Given the description of an element on the screen output the (x, y) to click on. 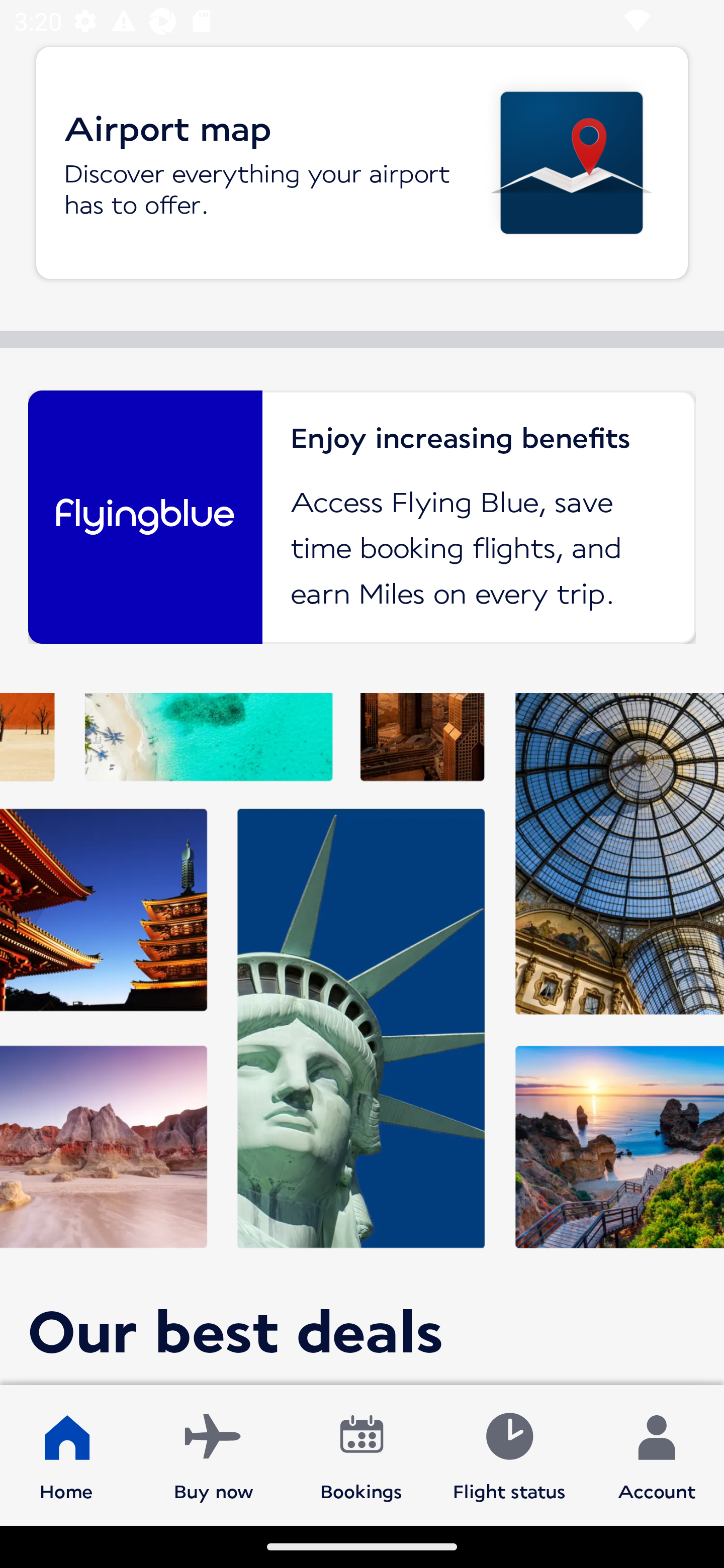
Our best deals (362, 1038)
Buy now (213, 1454)
Bookings (361, 1454)
Flight status (509, 1454)
Account (657, 1454)
